Given the description of an element on the screen output the (x, y) to click on. 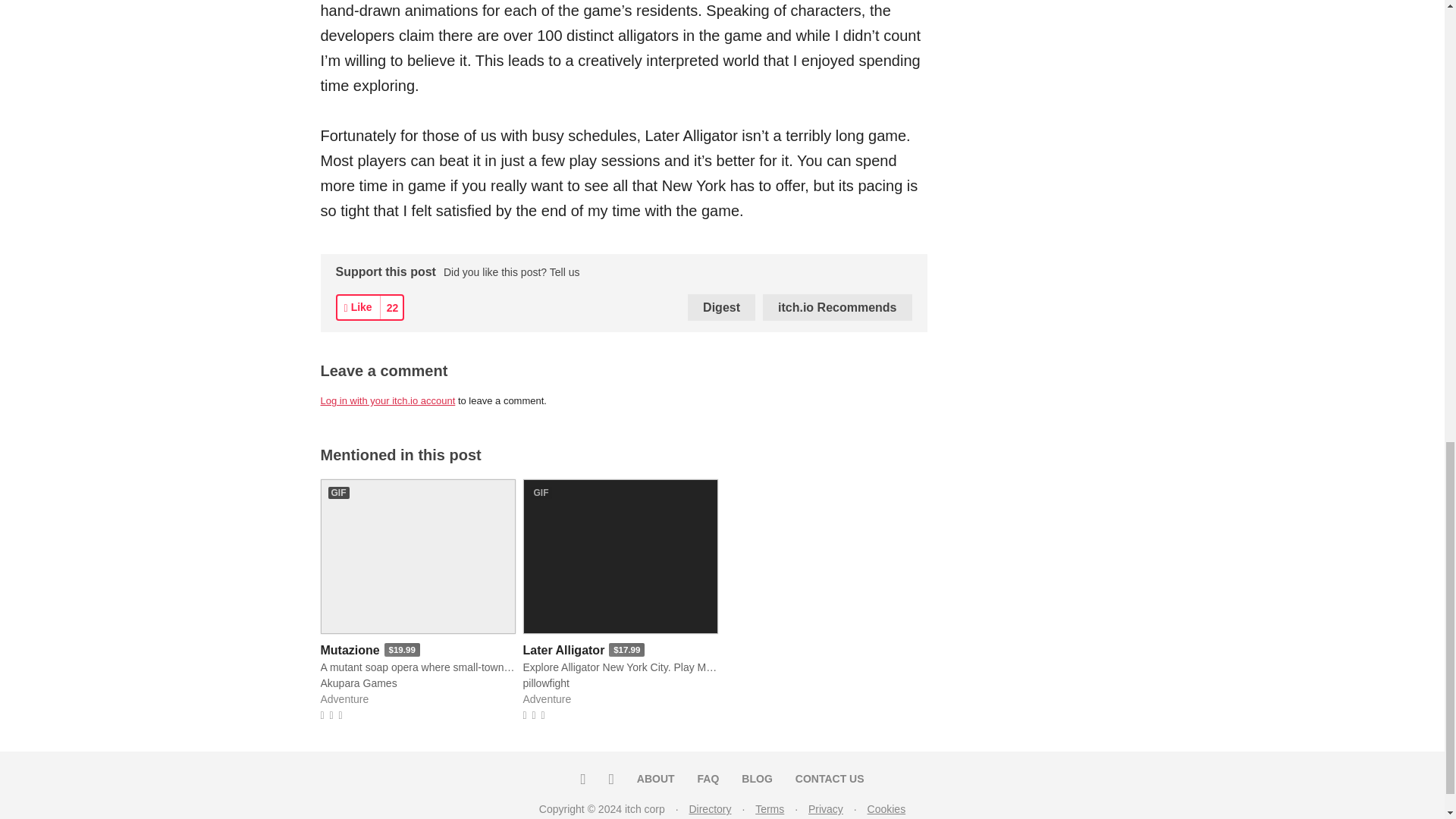
Like (357, 307)
Digest (721, 307)
itch.io Recommends (836, 307)
